Given the description of an element on the screen output the (x, y) to click on. 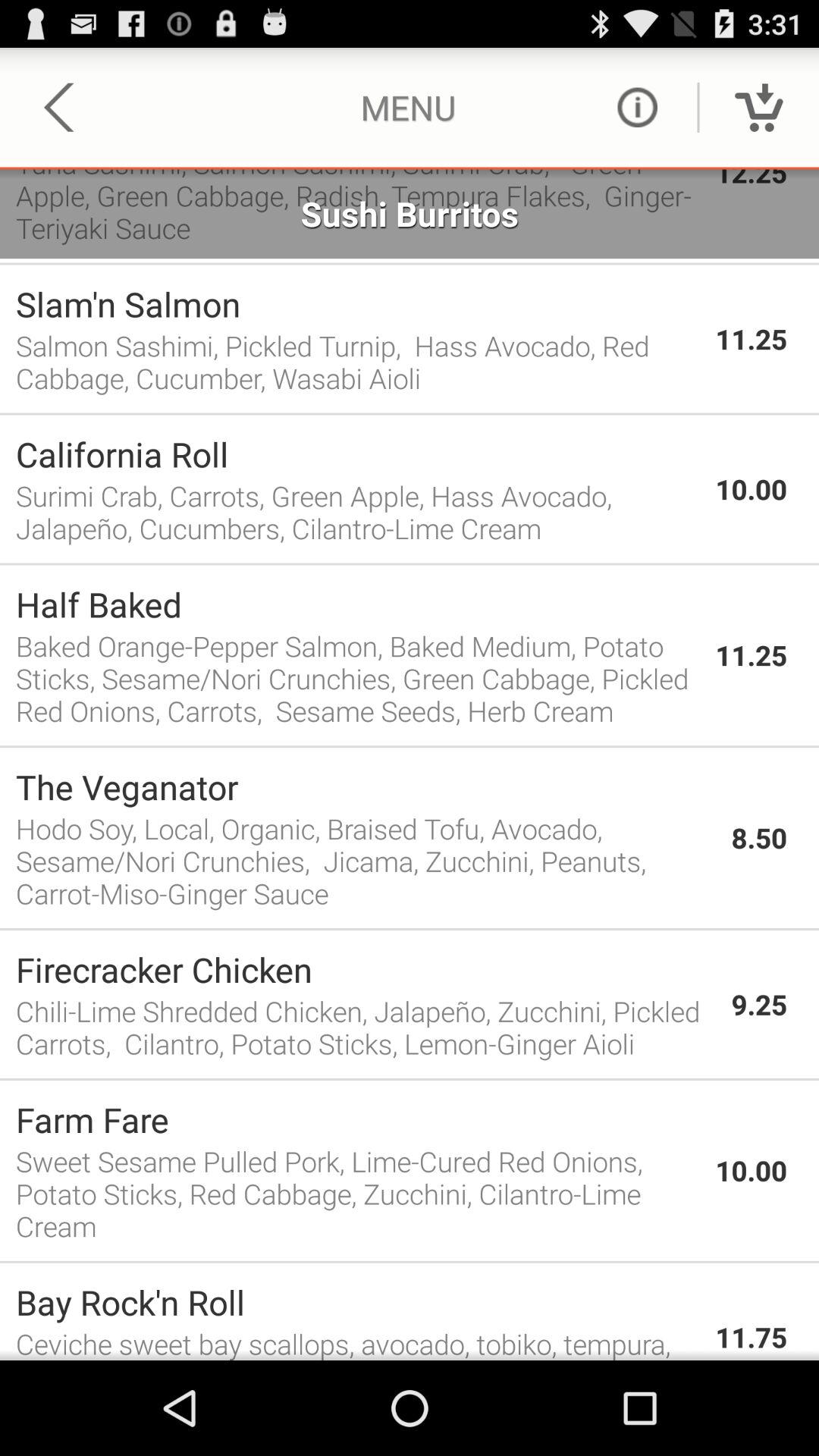
click app below the chili lime shredded (409, 1079)
